Given the description of an element on the screen output the (x, y) to click on. 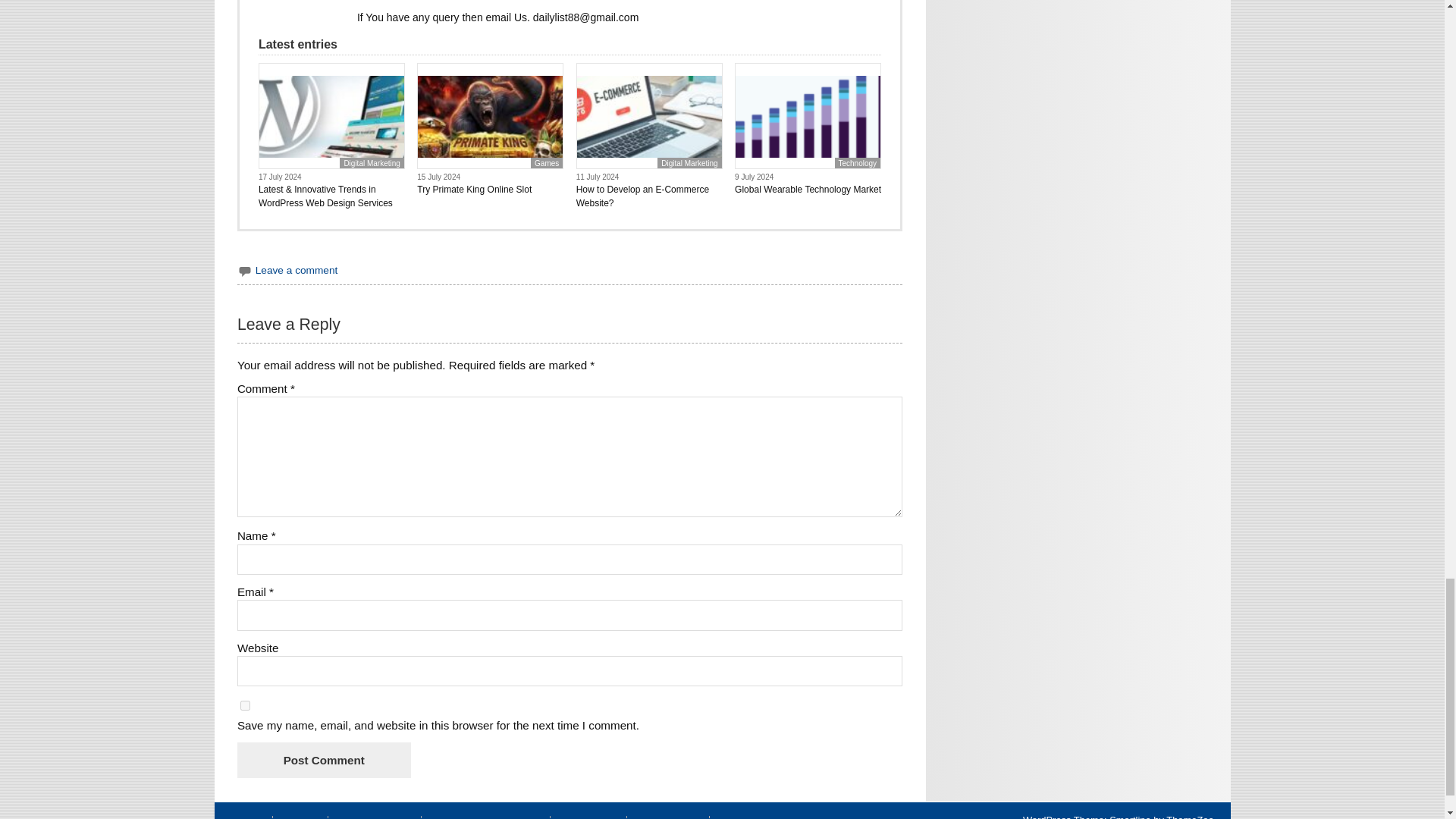
Post Comment (323, 760)
yes (245, 705)
